Given the description of an element on the screen output the (x, y) to click on. 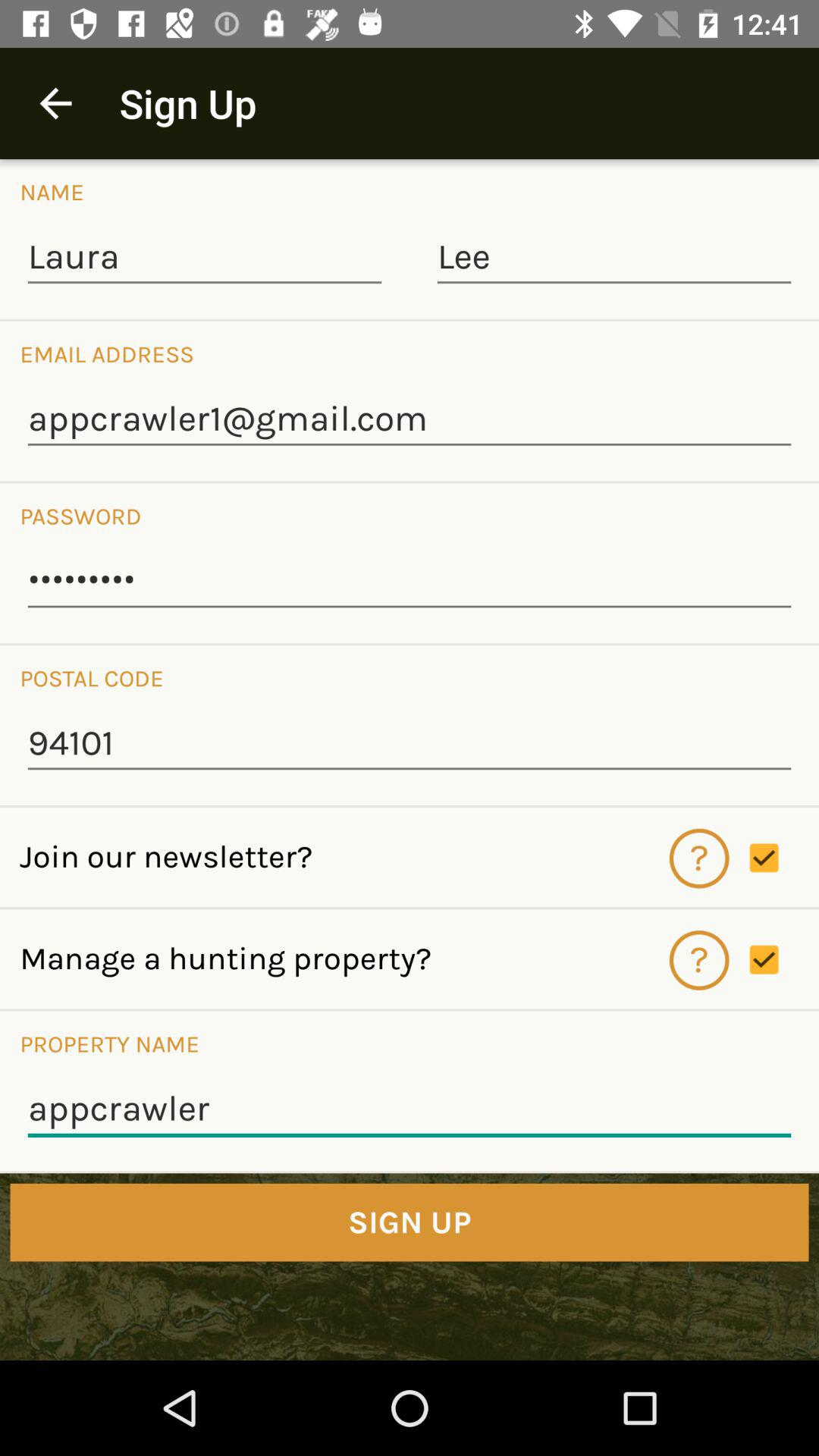
open item above name (55, 103)
